Given the description of an element on the screen output the (x, y) to click on. 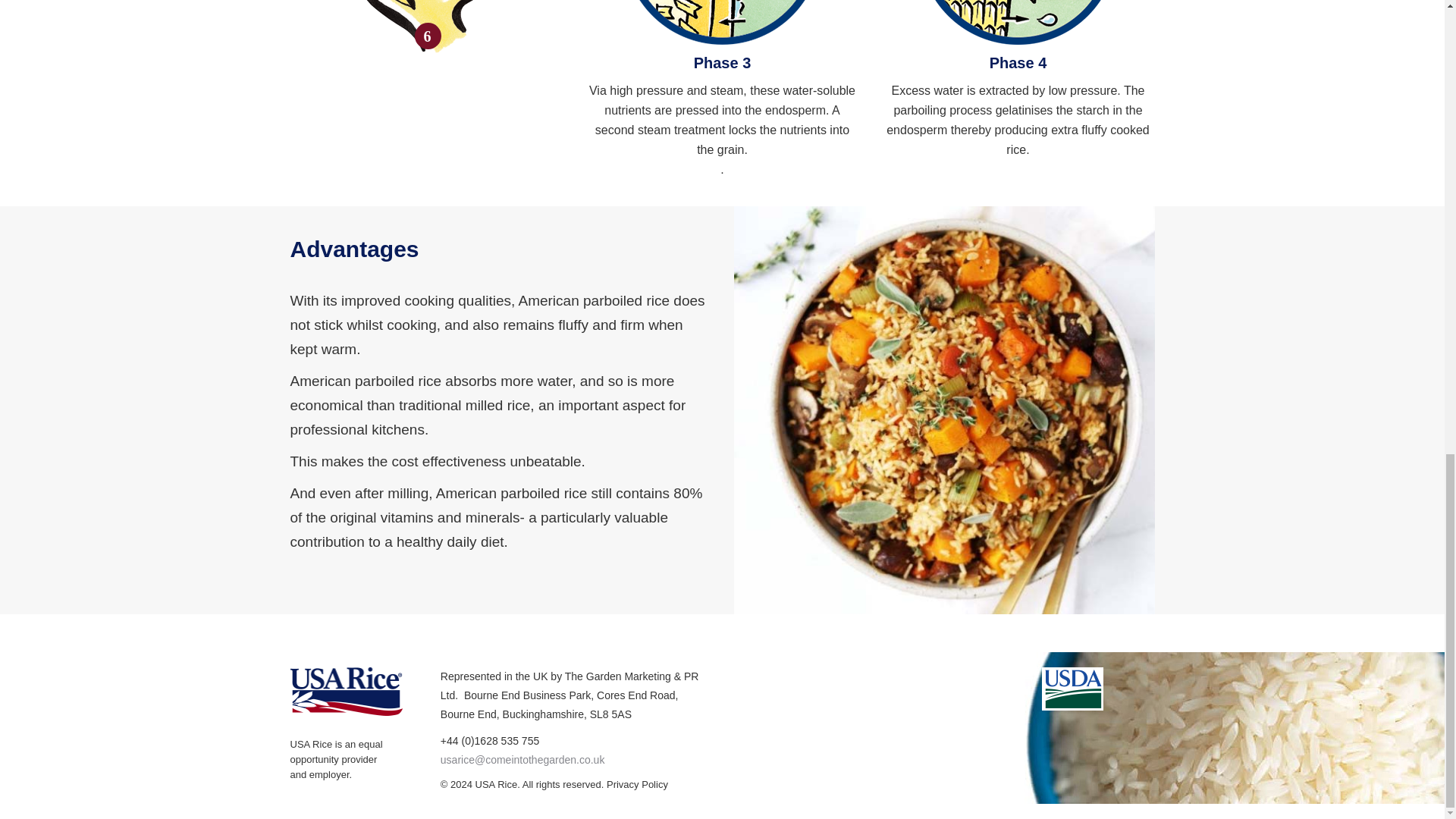
Page 23 (722, 120)
Visit USA Rice dot com (497, 784)
Read our Privacy Policy (637, 784)
Page 23 (1017, 120)
